Given the description of an element on the screen output the (x, y) to click on. 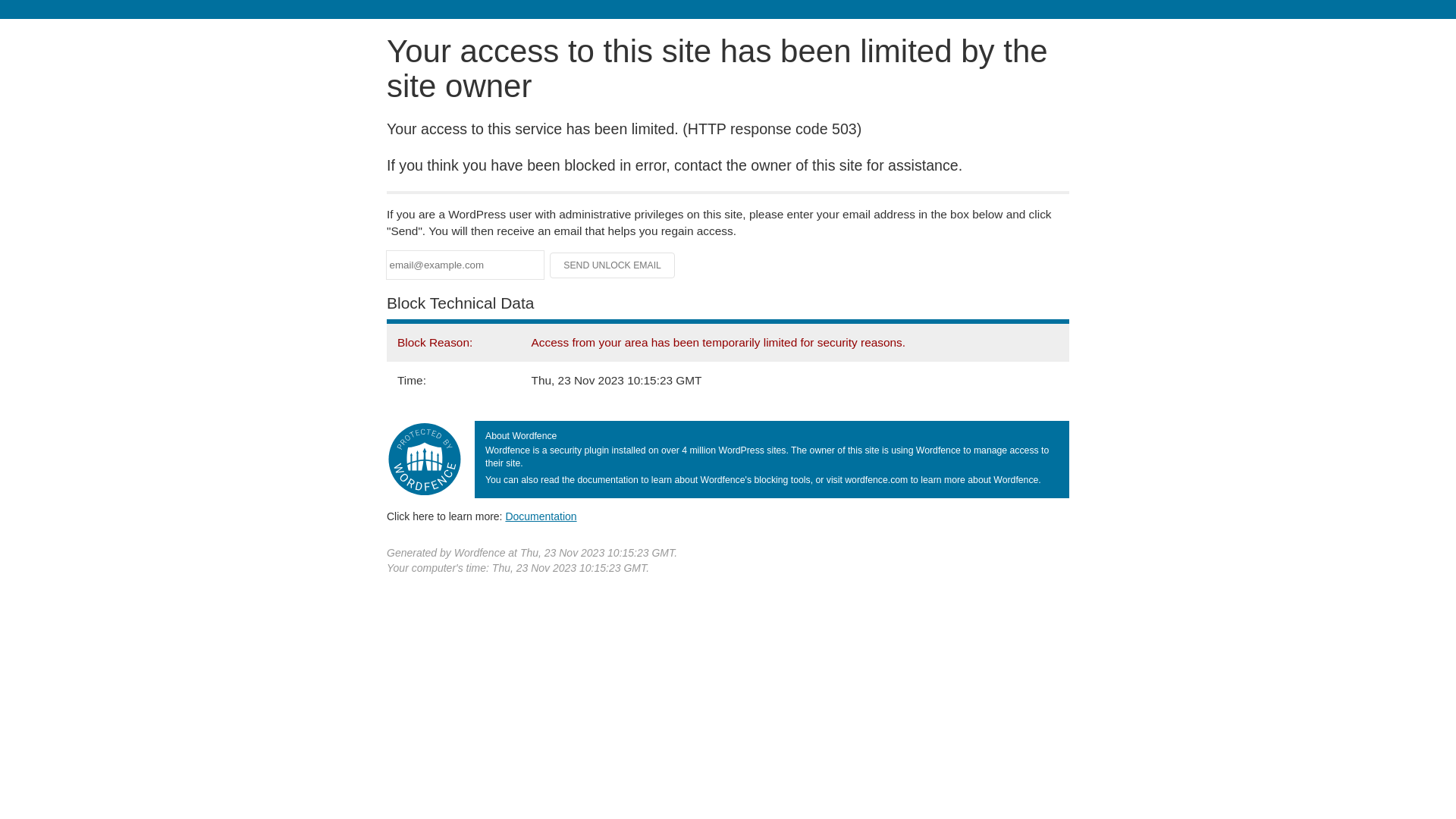
Send Unlock Email Element type: text (612, 265)
Documentation Element type: text (540, 516)
